Given the description of an element on the screen output the (x, y) to click on. 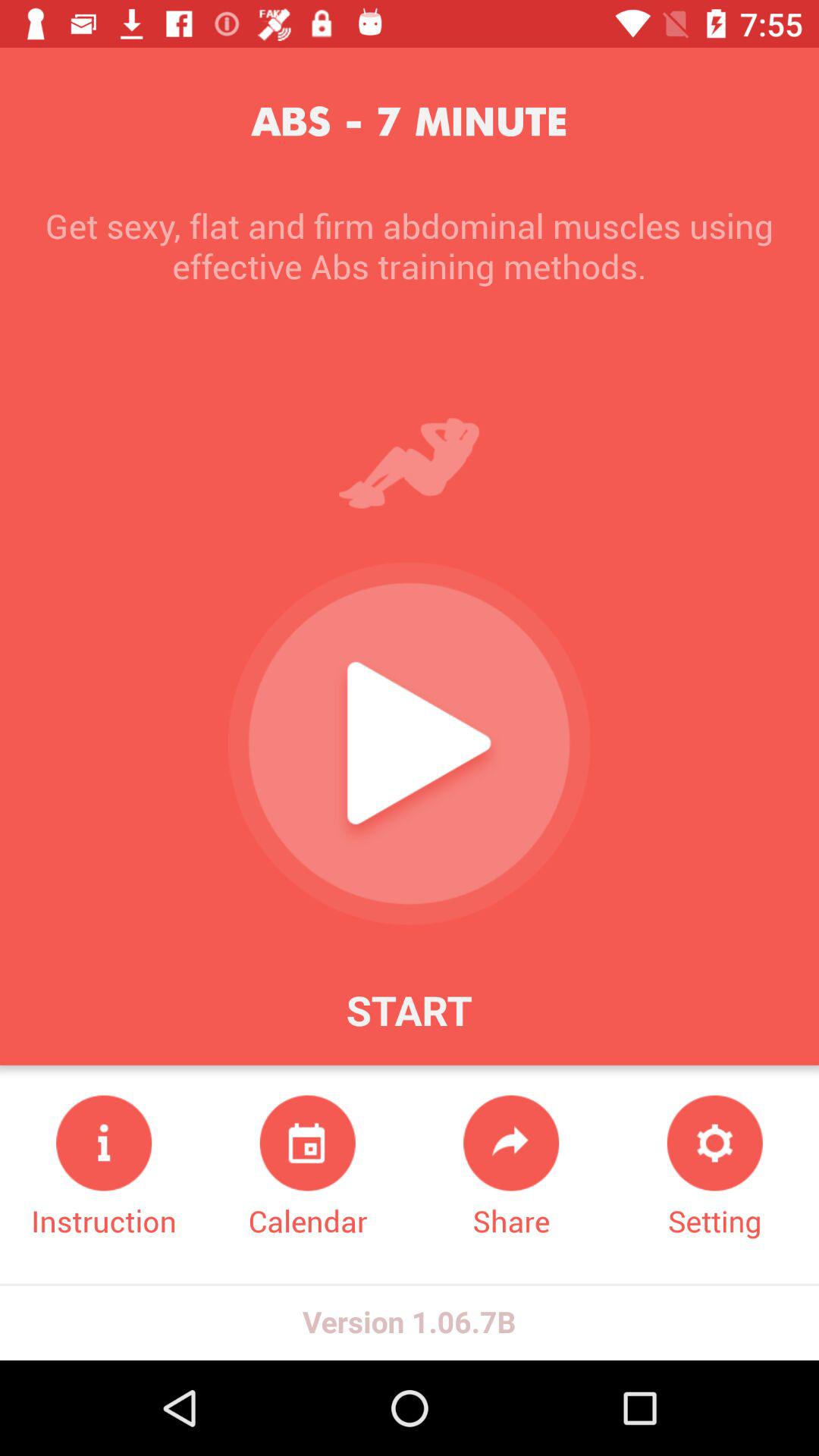
turn on icon next to the setting icon (511, 1168)
